Given the description of an element on the screen output the (x, y) to click on. 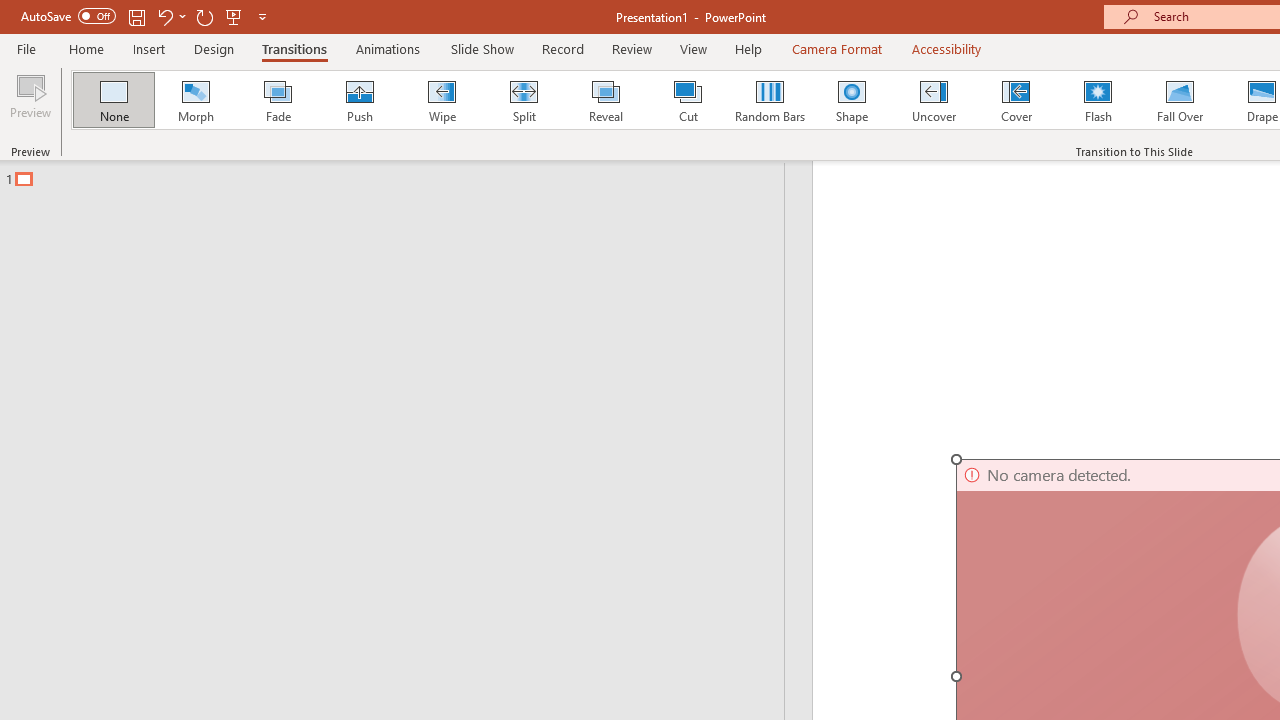
Flash (1098, 100)
Uncover (934, 100)
Split (523, 100)
Push (359, 100)
Fade (277, 100)
Reveal (605, 100)
Preview (30, 102)
Cut (687, 100)
Random Bars (770, 100)
Cover (1016, 100)
